Given the description of an element on the screen output the (x, y) to click on. 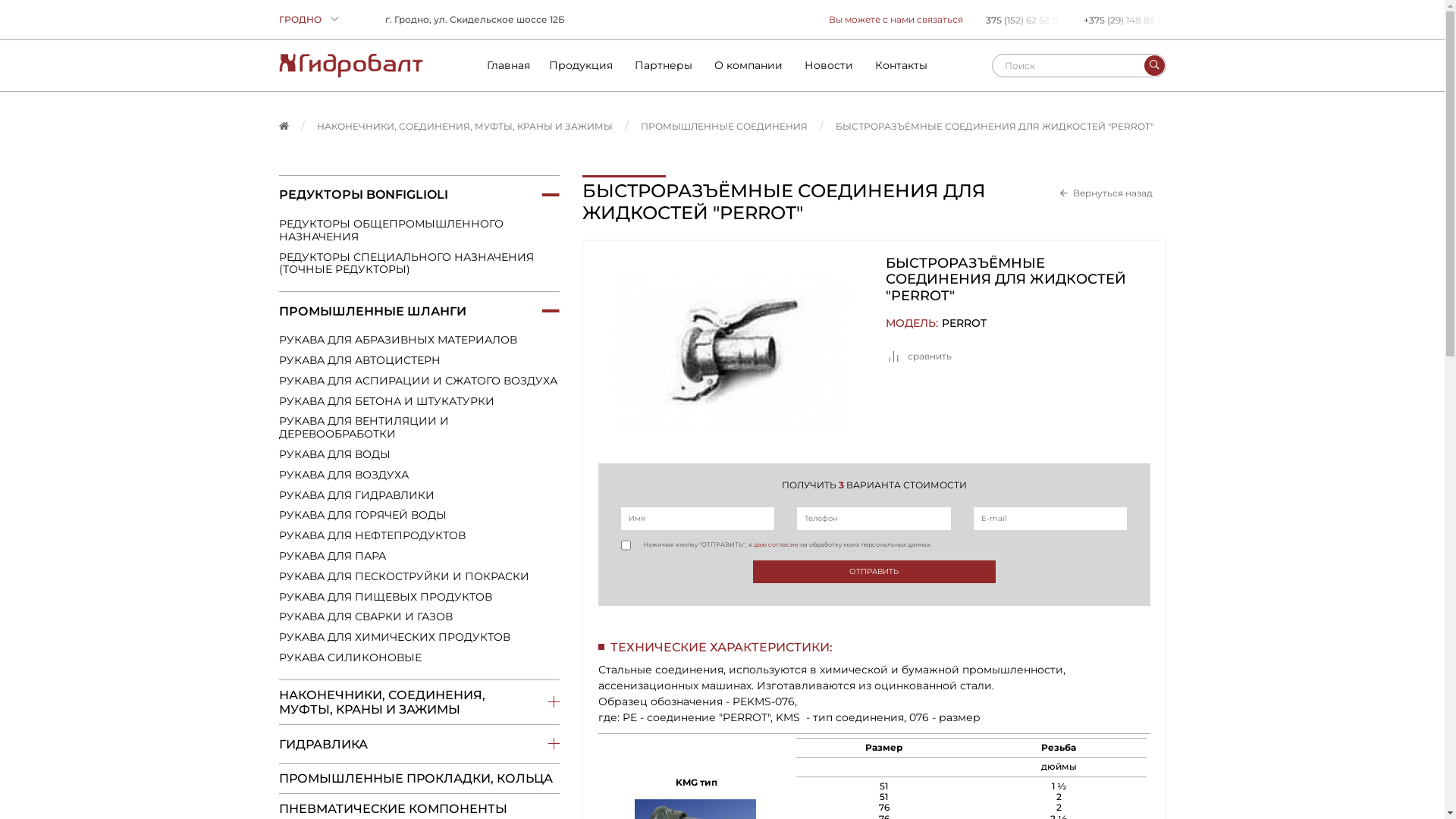
PERROT Element type: text (963, 322)
375 (152) 62 52 0 Element type: text (1022, 19)
+375 (29) 148 85 1 Element type: text (1123, 19)
HIDROBALT.BY Element type: hover (351, 65)
